Given the description of an element on the screen output the (x, y) to click on. 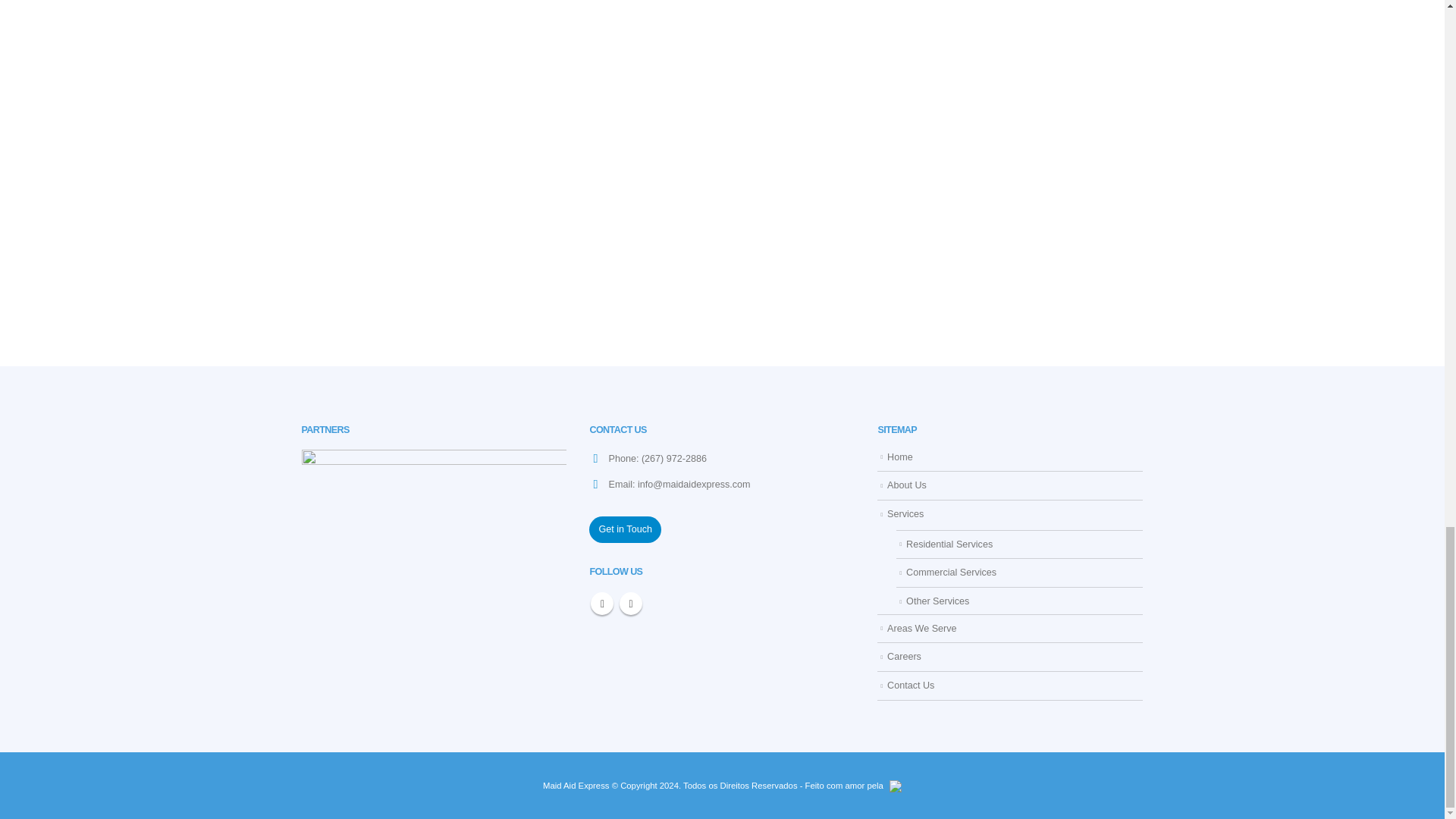
Instagram (631, 603)
Commercial Services (950, 572)
Instagram (631, 603)
About Us (906, 484)
Residential Services (948, 543)
Services (904, 513)
Facebook (601, 603)
Facebook (601, 603)
Get in Touch (625, 529)
Other Services (937, 601)
